Given the description of an element on the screen output the (x, y) to click on. 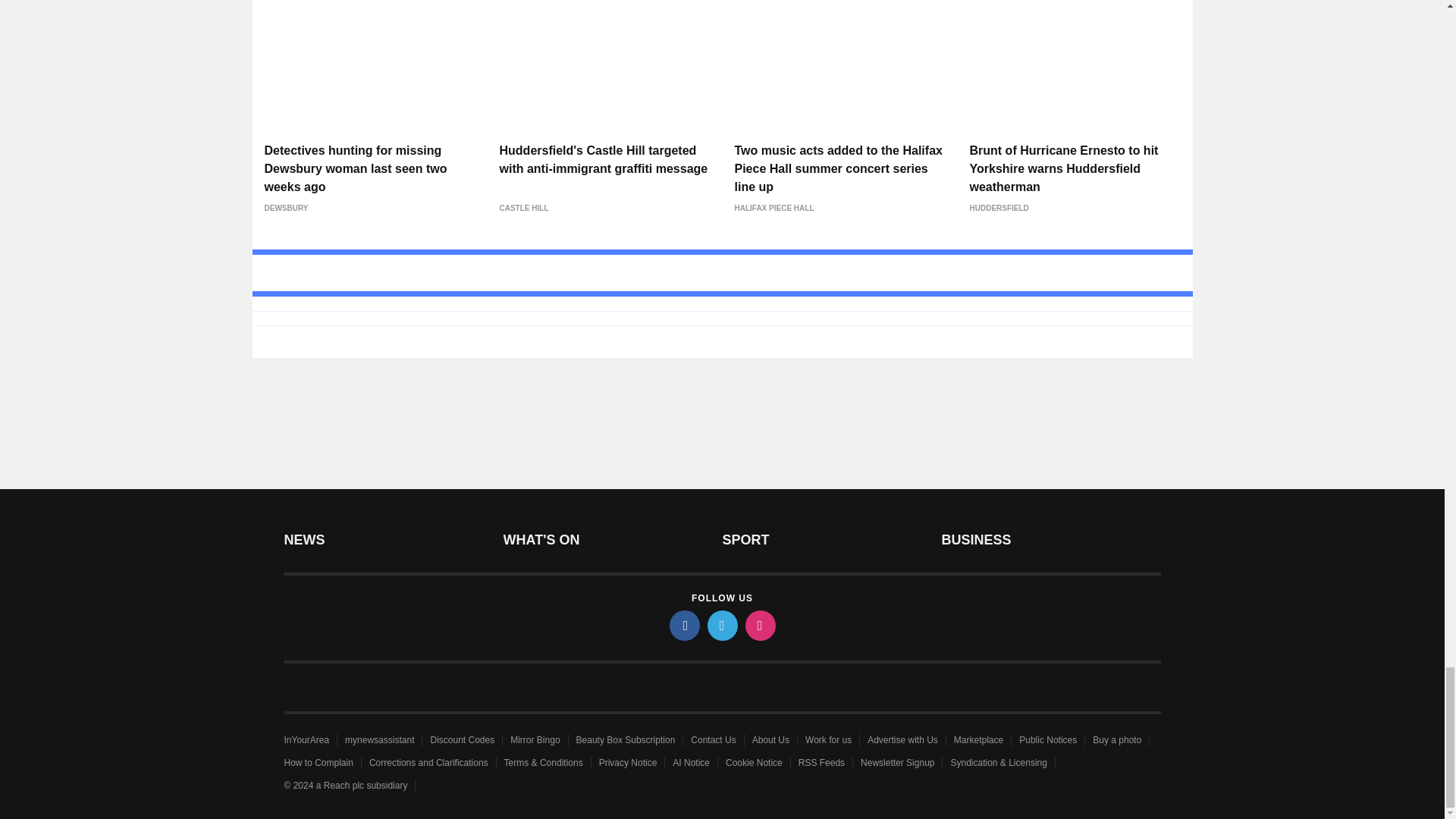
facebook (683, 625)
twitter (721, 625)
instagram (759, 625)
